Given the description of an element on the screen output the (x, y) to click on. 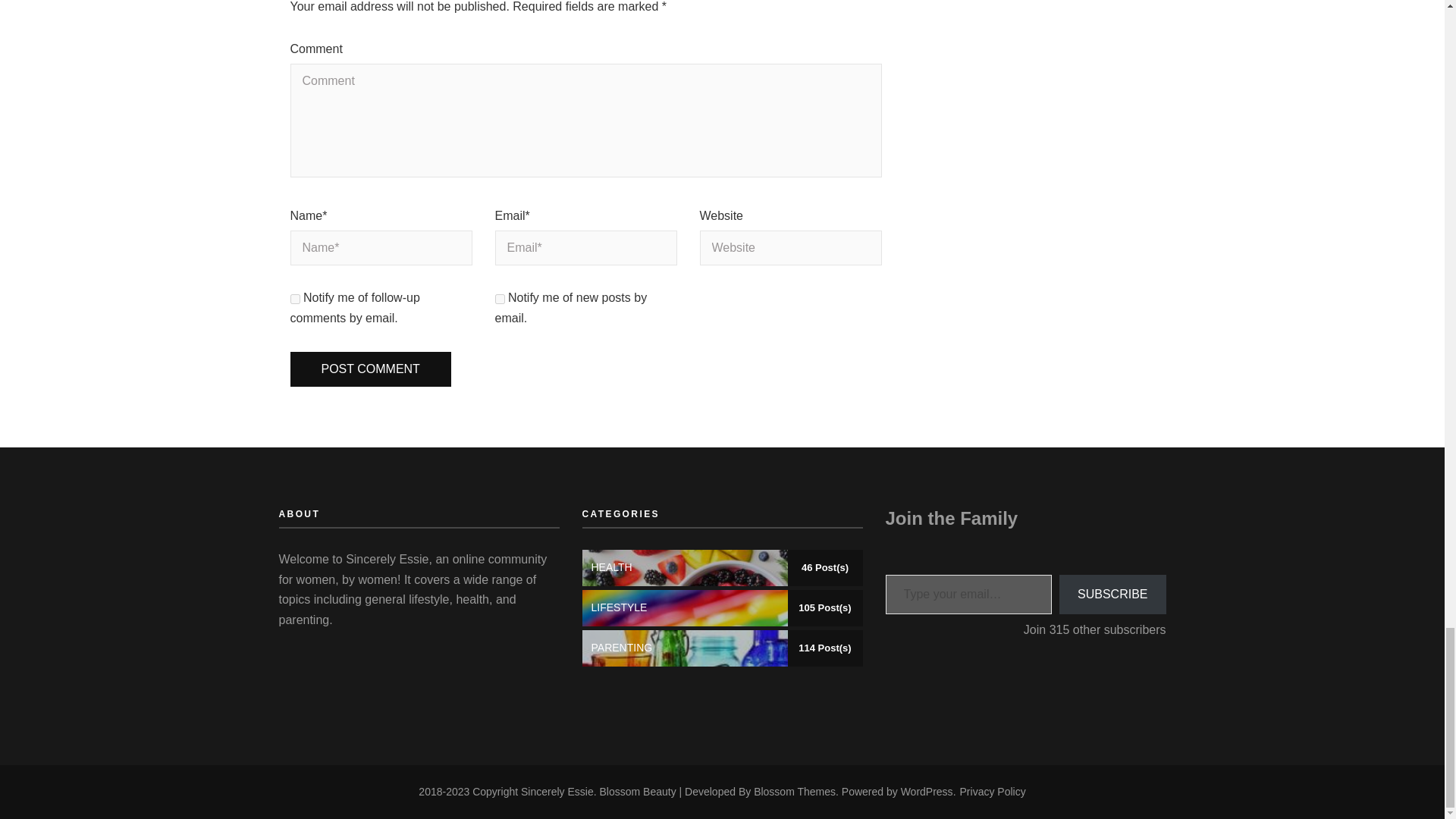
subscribe (499, 298)
subscribe (294, 298)
Post Comment (369, 369)
